Given the description of an element on the screen output the (x, y) to click on. 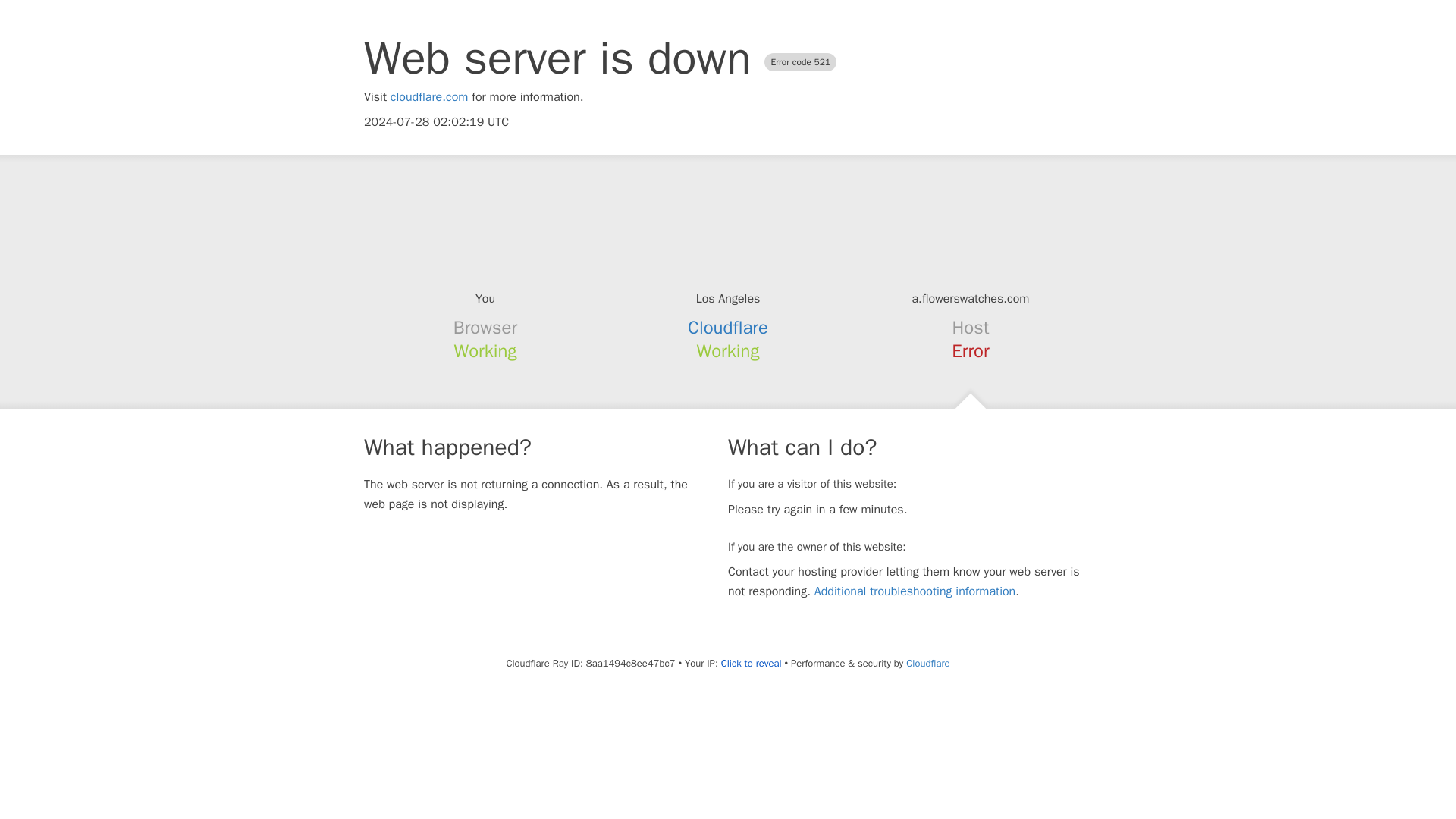
Click to reveal (750, 663)
Additional troubleshooting information (913, 590)
cloudflare.com (429, 96)
Cloudflare (927, 662)
Cloudflare (727, 327)
